Given the description of an element on the screen output the (x, y) to click on. 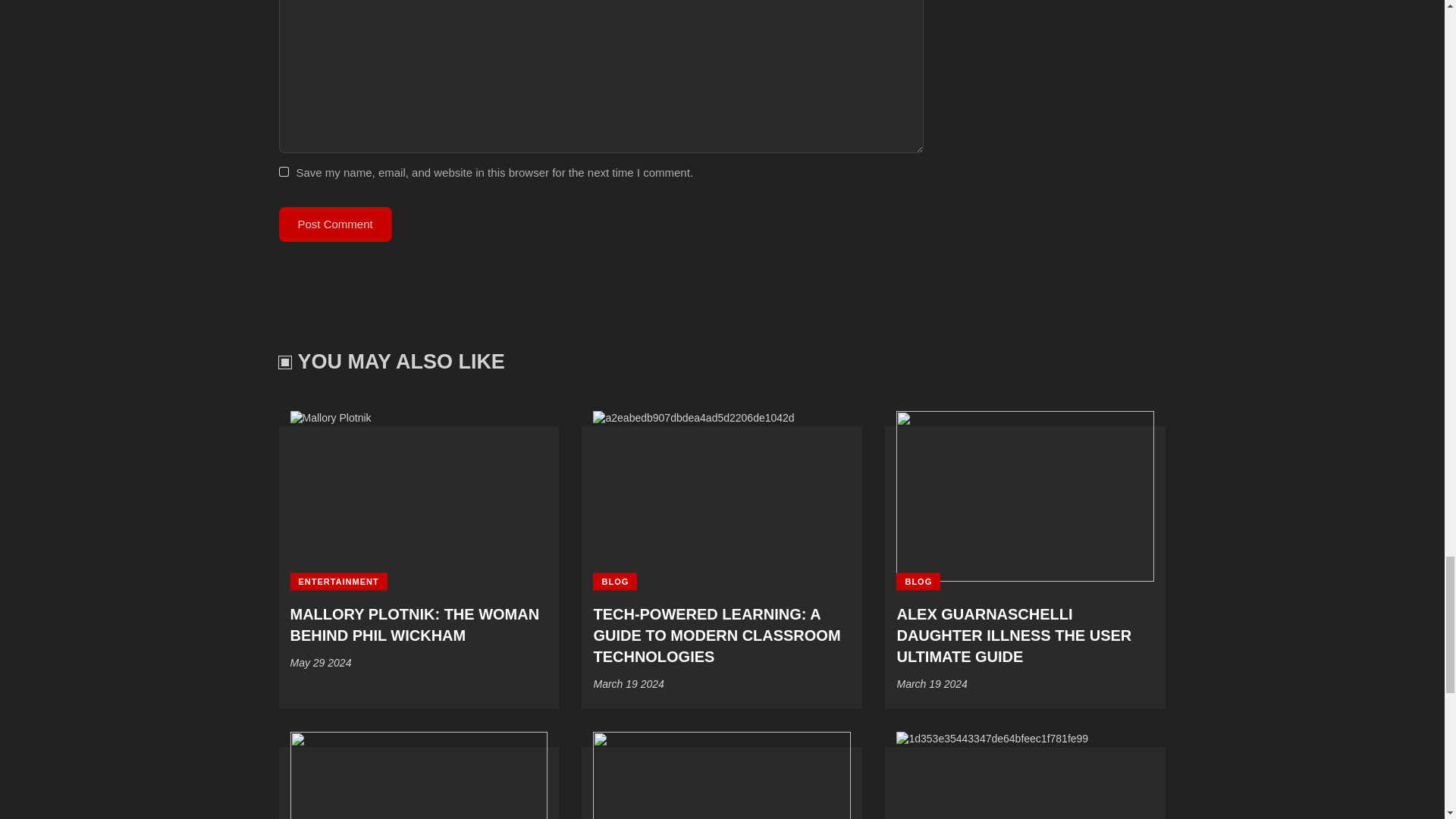
Post Comment (335, 224)
yes (283, 172)
